Given the description of an element on the screen output the (x, y) to click on. 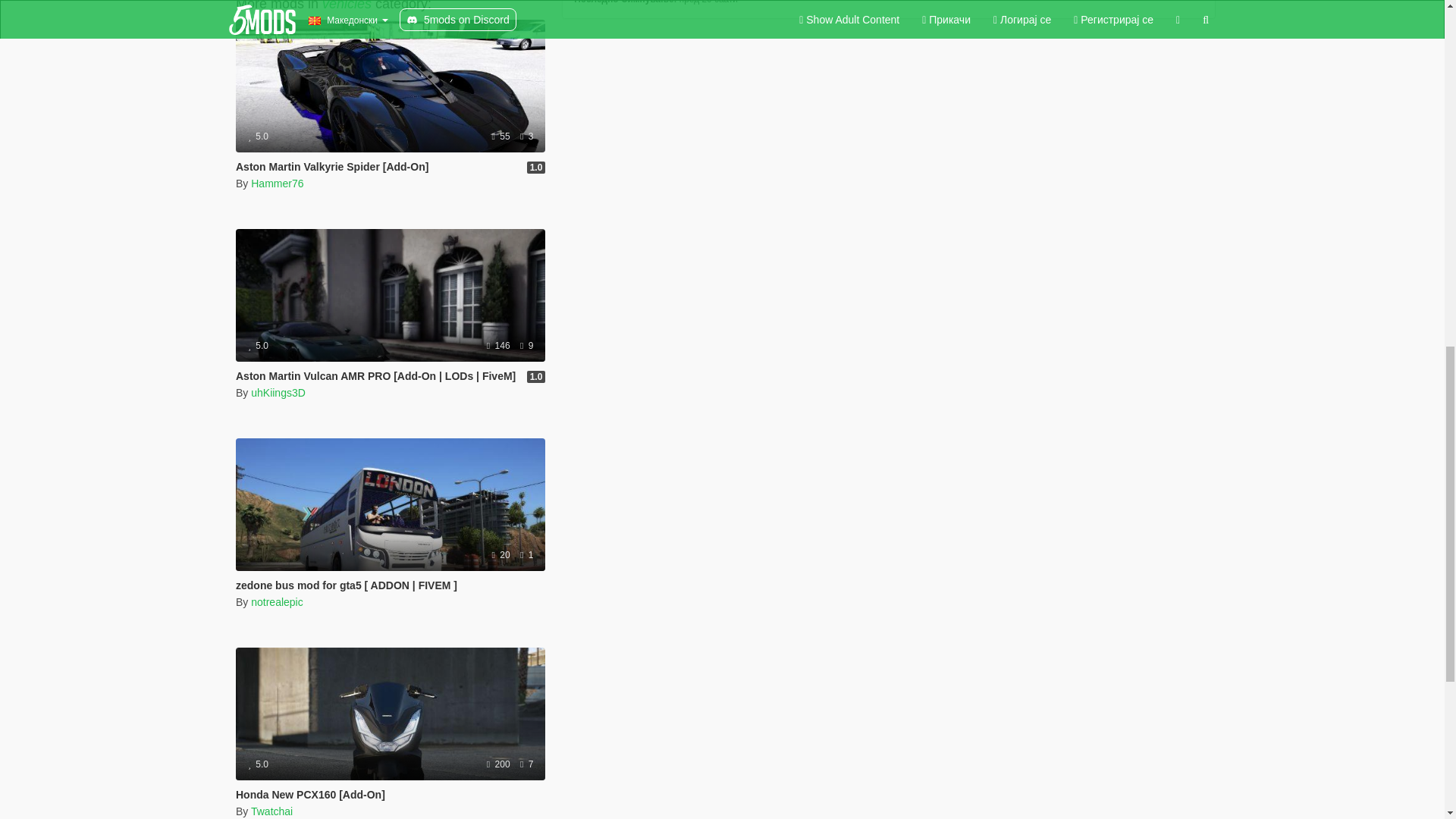
5.0 star rating (257, 136)
